Given the description of an element on the screen output the (x, y) to click on. 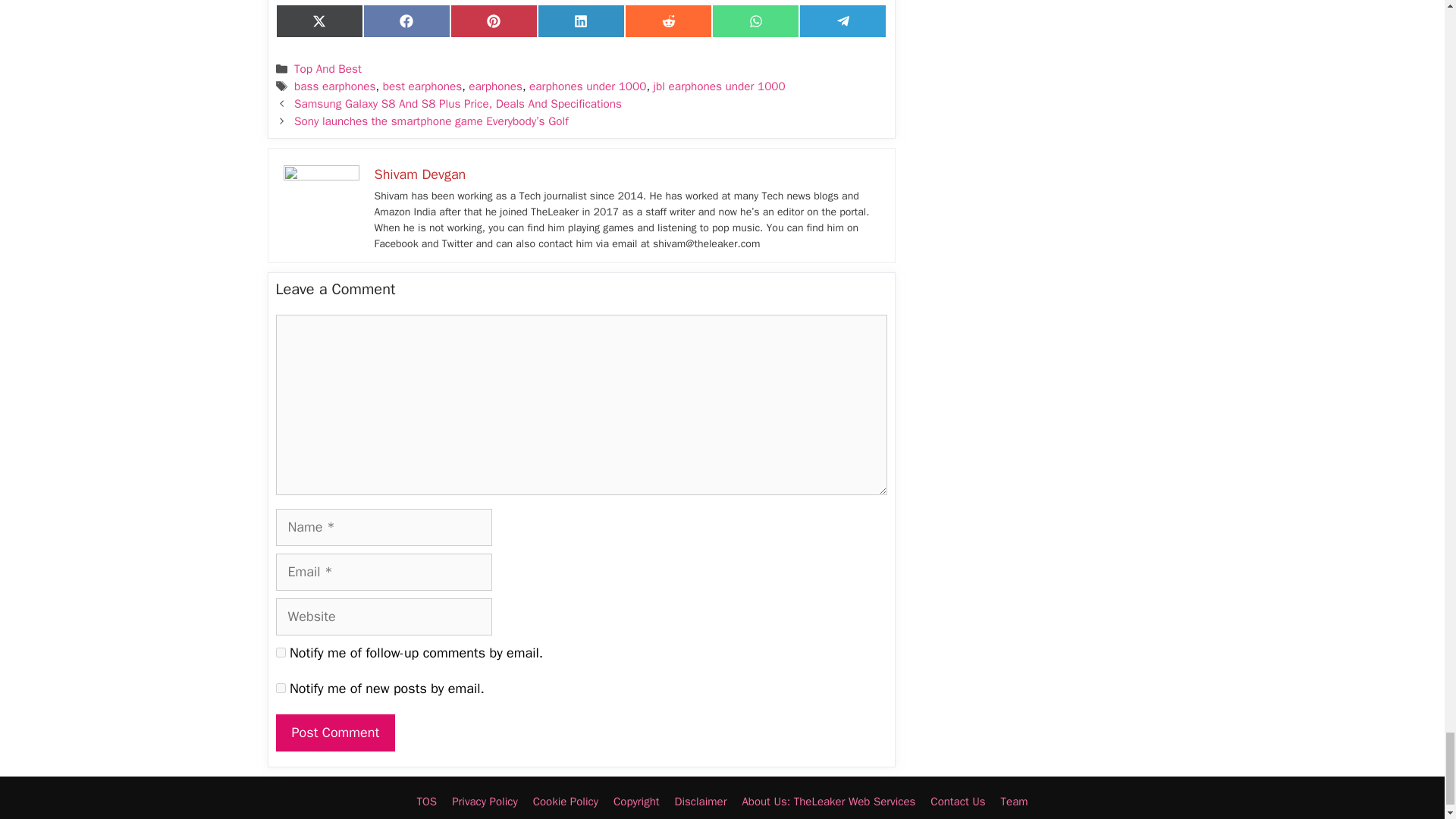
subscribe (280, 652)
subscribe (280, 687)
Post Comment (336, 732)
